Given the description of an element on the screen output the (x, y) to click on. 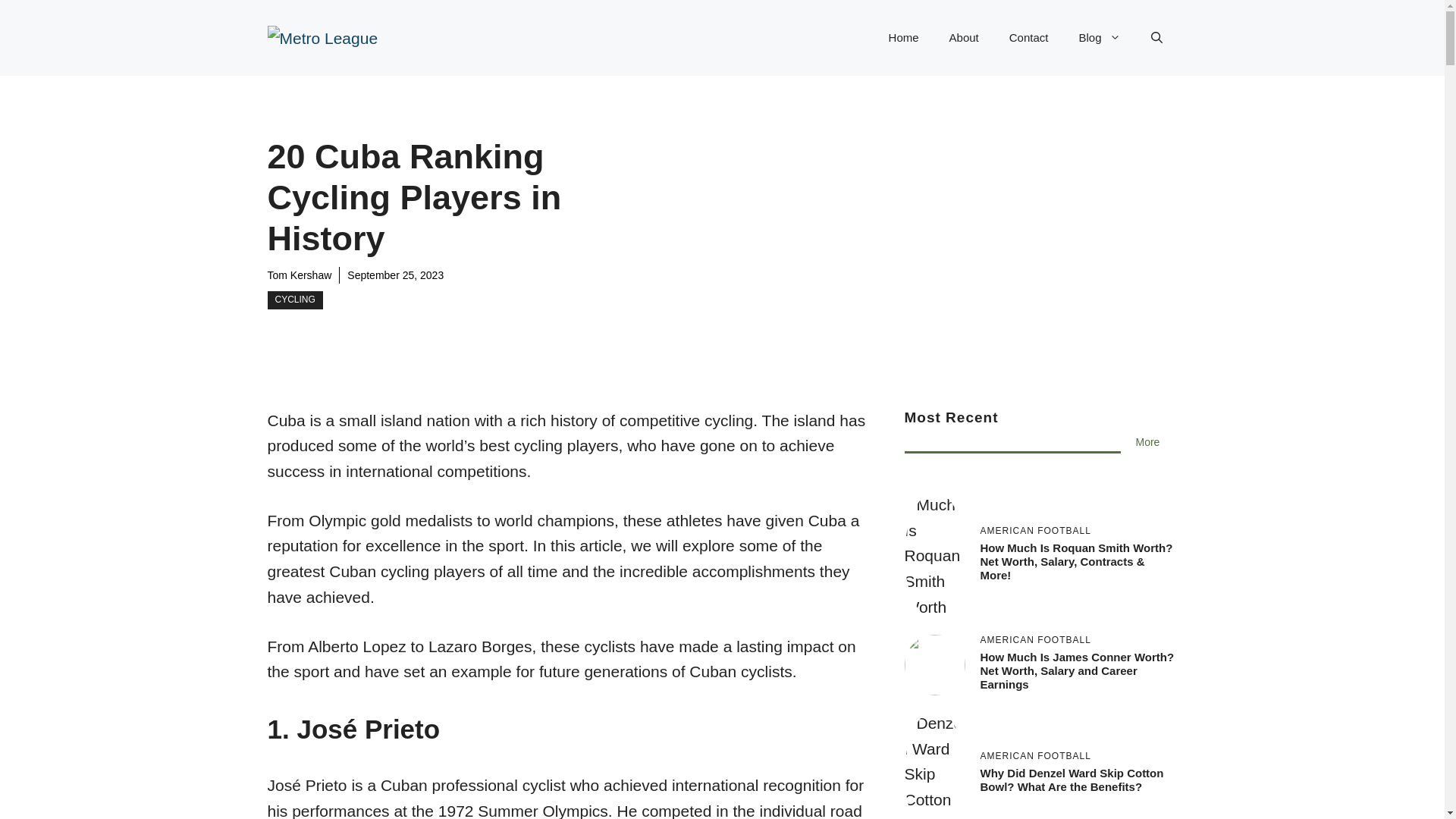
Blog (1098, 37)
Home (903, 37)
Why Did Denzel Ward Skip Cotton Bowl? What Are the Benefits? (1071, 779)
More (1147, 442)
CYCLING (293, 299)
Tom Kershaw (298, 275)
Contact (1029, 37)
About (964, 37)
